Given the description of an element on the screen output the (x, y) to click on. 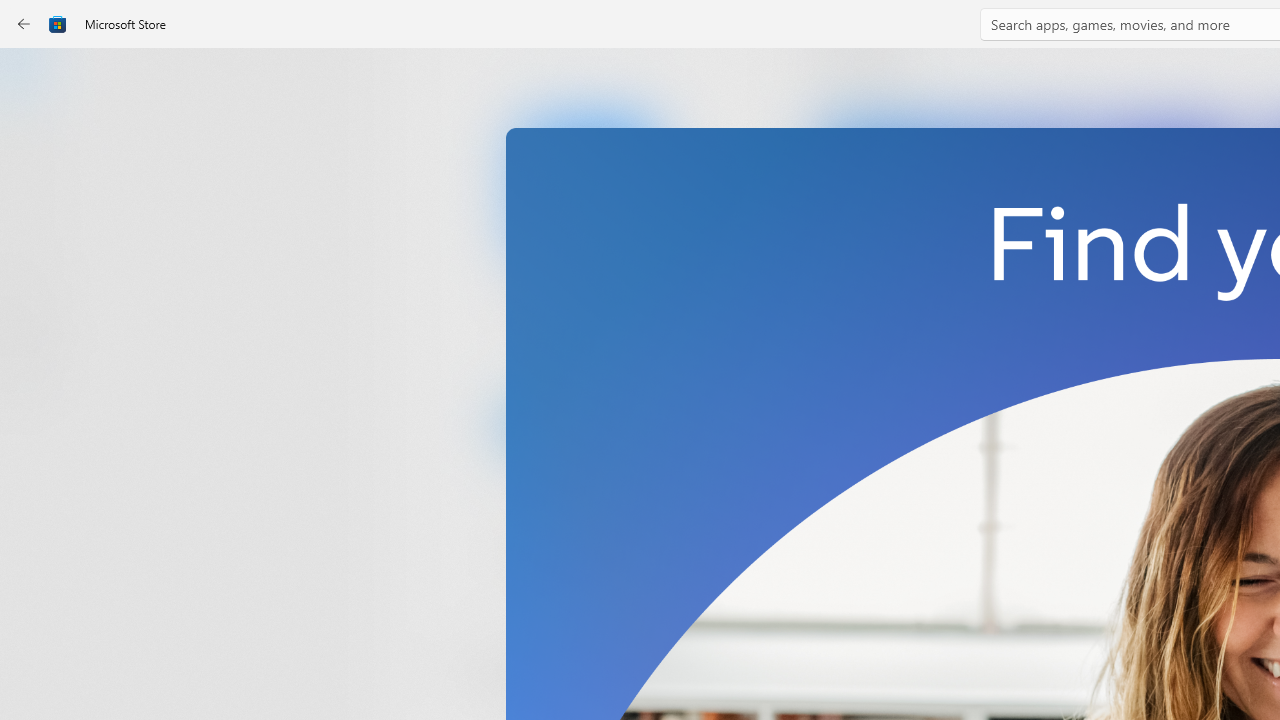
3.9 stars. Click to skip to ratings and reviews (542, 556)
Apps (35, 141)
Screenshot 1 (1029, 279)
AI Hub (35, 390)
Home (35, 79)
Entertainment (35, 327)
Back (24, 24)
Class: Image (58, 24)
Arcade (35, 265)
Get (586, 424)
LinkedIn (585, 333)
Gaming (35, 203)
